Given the description of an element on the screen output the (x, y) to click on. 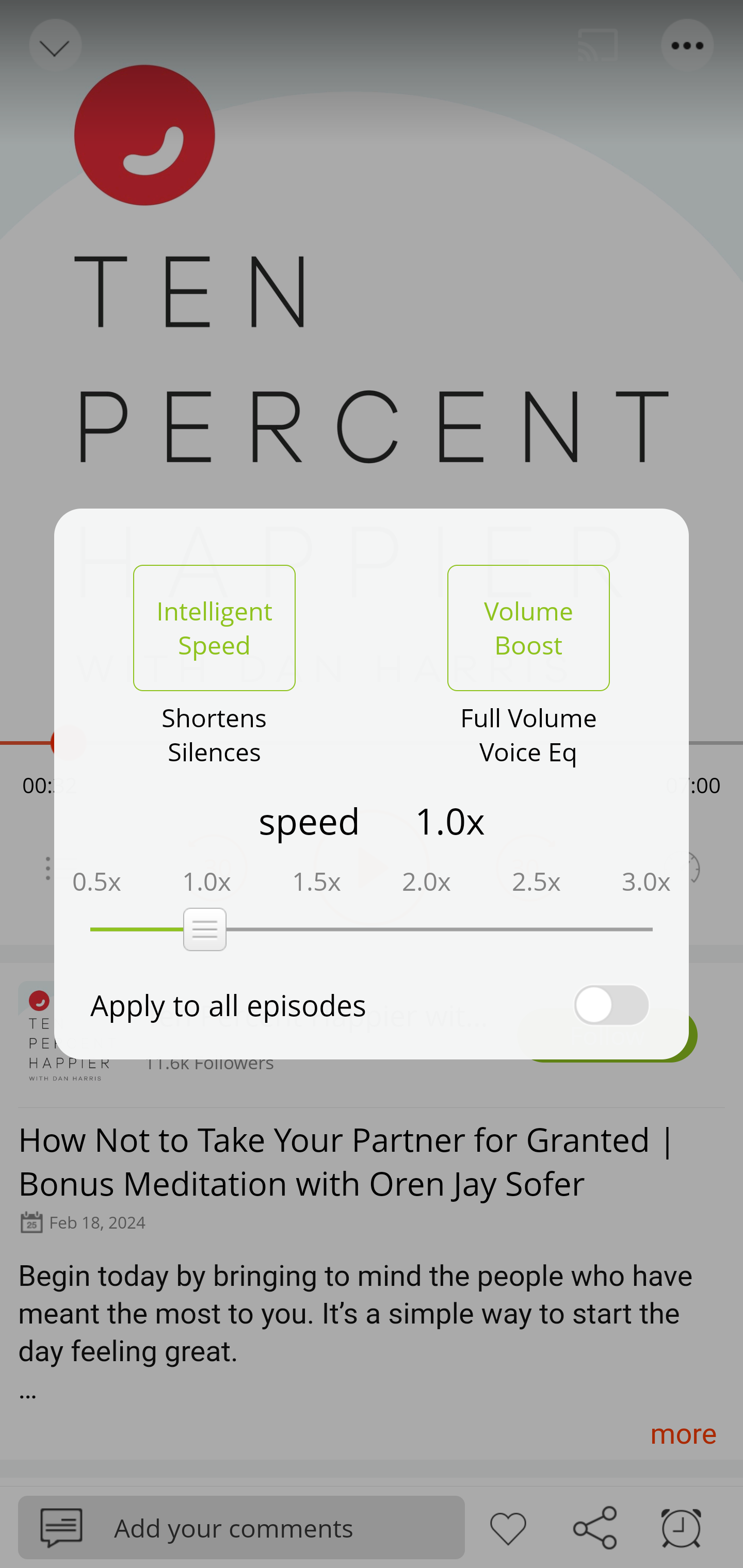
Intelligent
Speed (213, 627)
Volume
Boost (528, 627)
